Given the description of an element on the screen output the (x, y) to click on. 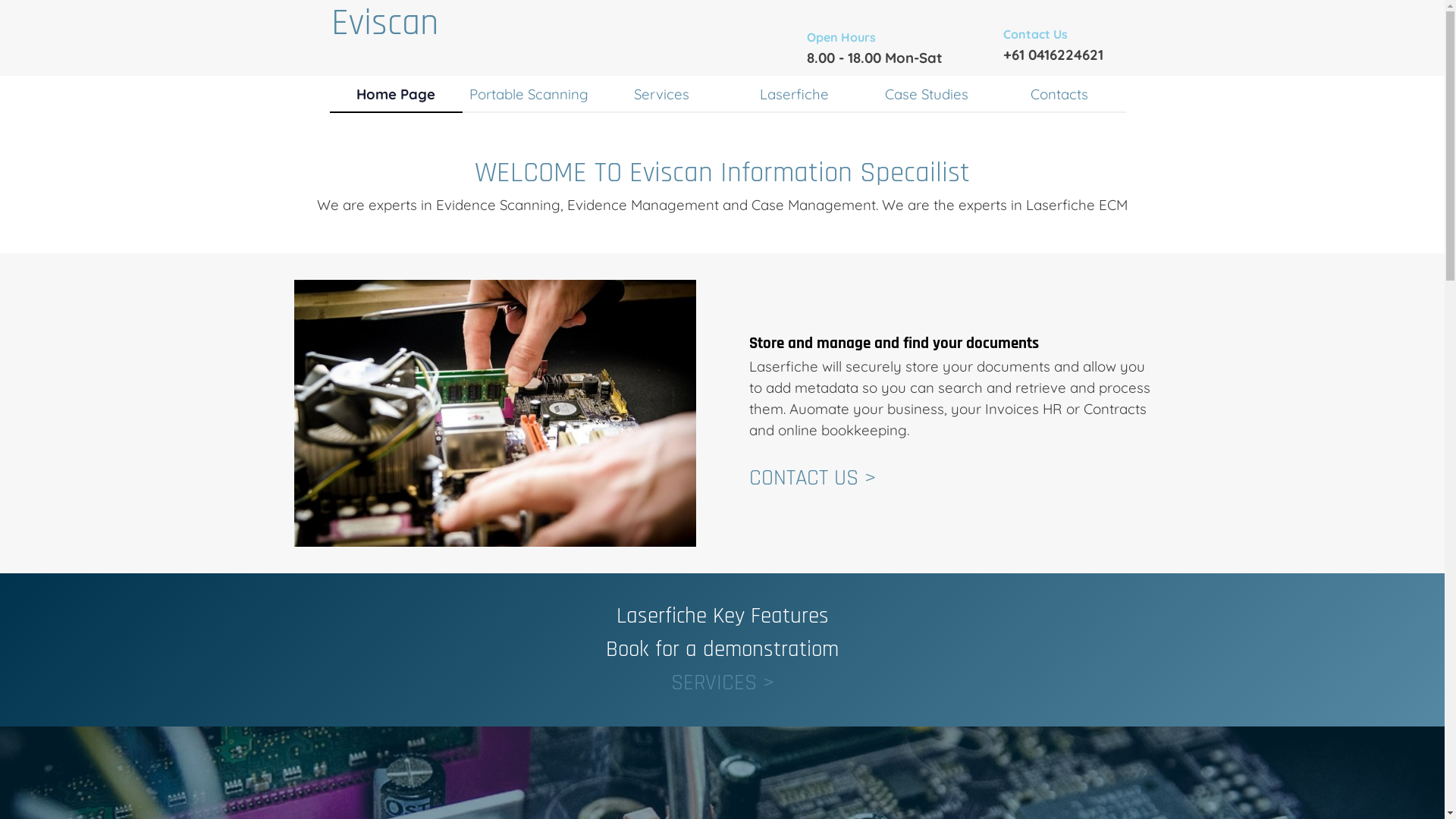
Services Element type: text (660, 93)
Home Page Element type: text (395, 93)
Contacts Element type: text (1059, 93)
SERVICES > Element type: text (721, 682)
Portable Scanning Element type: text (528, 93)
CONTACT US > Element type: text (812, 478)
Laserfiche Element type: text (794, 93)
Eviscan Element type: text (384, 23)
